Given the description of an element on the screen output the (x, y) to click on. 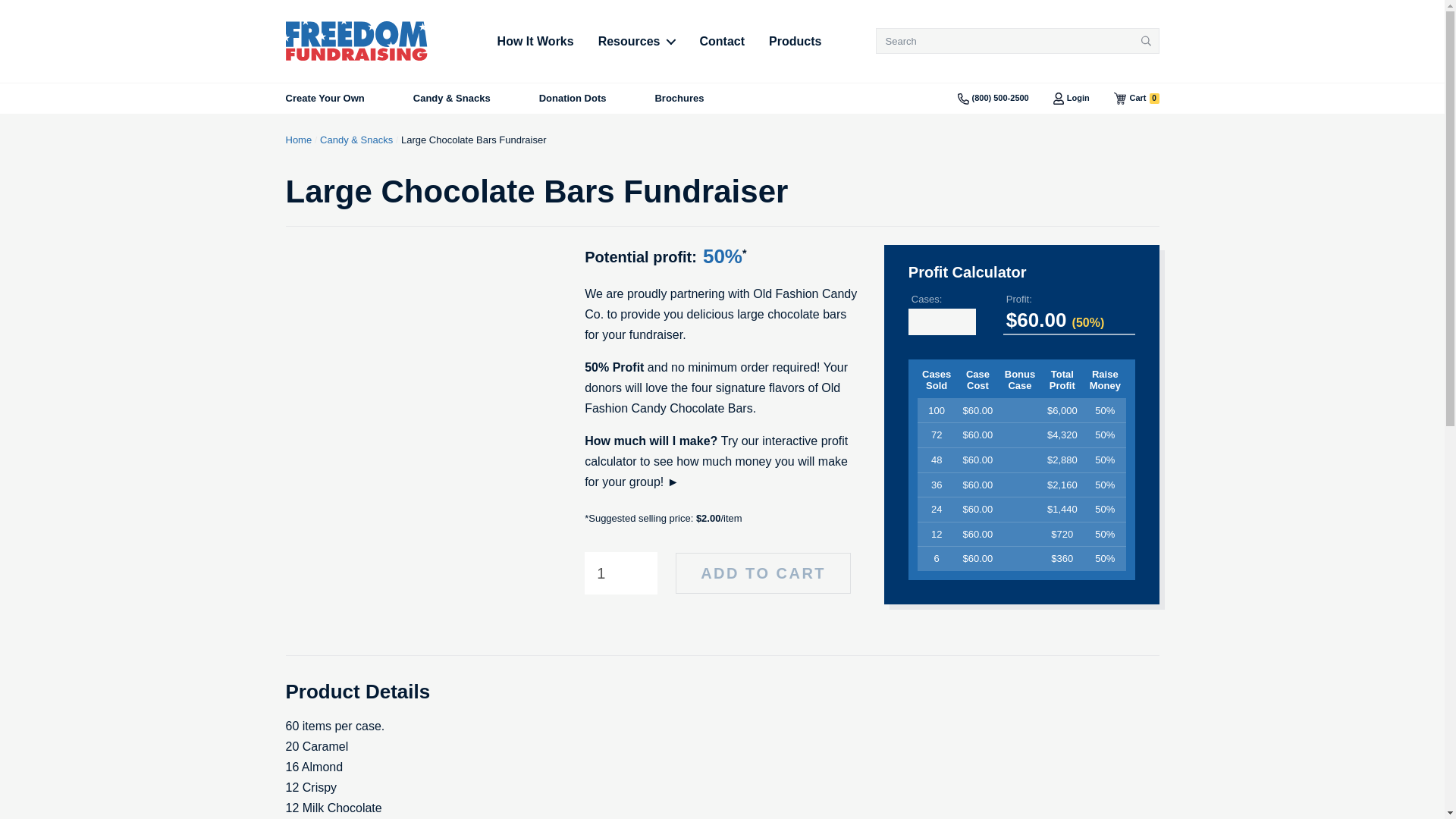
Search (1135, 98)
Resources (1146, 40)
Donation Dots (636, 41)
ADD TO CART (572, 98)
How It Works (762, 572)
Login (535, 41)
View your shopping cart (1070, 98)
Login (1135, 98)
Products (1070, 98)
